Given the description of an element on the screen output the (x, y) to click on. 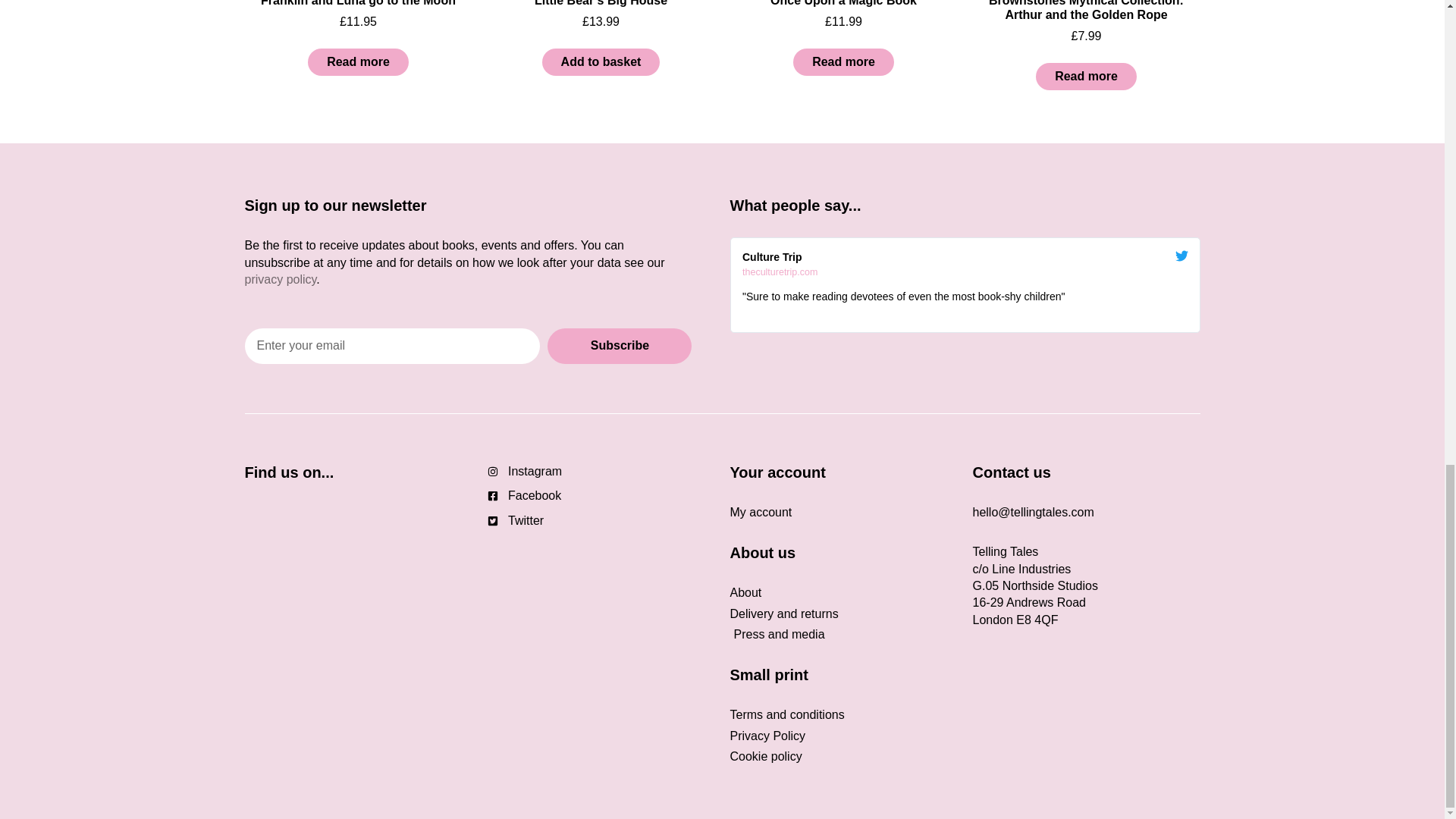
Subscribe (619, 345)
Read more (843, 62)
Add to basket (601, 62)
Cookie policy (842, 756)
Read more (358, 62)
Twitter (600, 520)
My account (842, 512)
Privacy Policy (842, 736)
About (842, 592)
privacy policy (279, 278)
Read more (1086, 76)
Facebook (600, 495)
Delivery and returns (842, 614)
Instagram (600, 471)
